Given the description of an element on the screen output the (x, y) to click on. 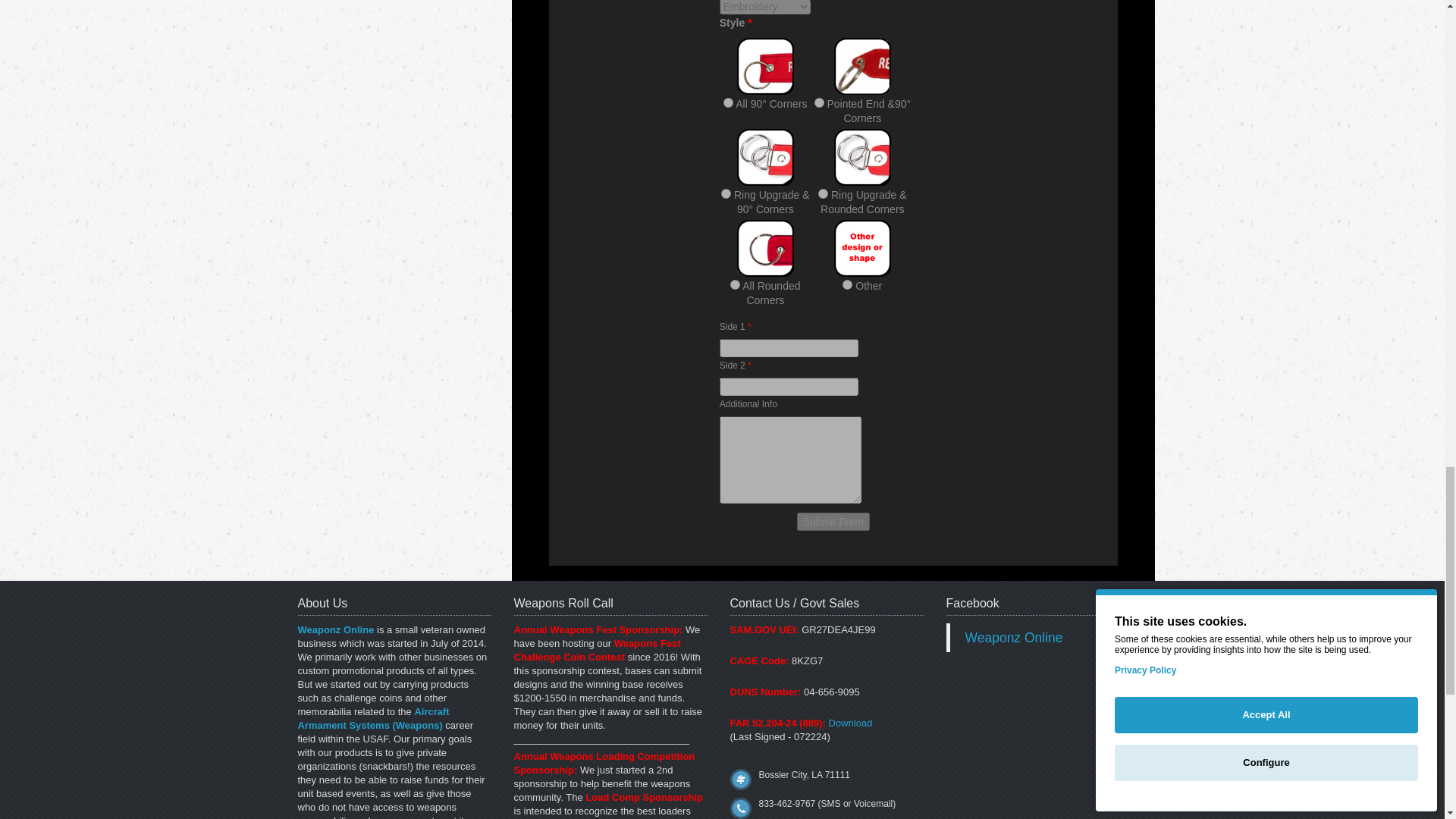
Rounded Corners (734, 284)
Pointed end (818, 102)
90 degree Corners (728, 102)
Riveted, Rounded Corners (823, 194)
Other (847, 284)
Submit Form (832, 521)
Riveted, 90 degree Corners (725, 194)
